Given the description of an element on the screen output the (x, y) to click on. 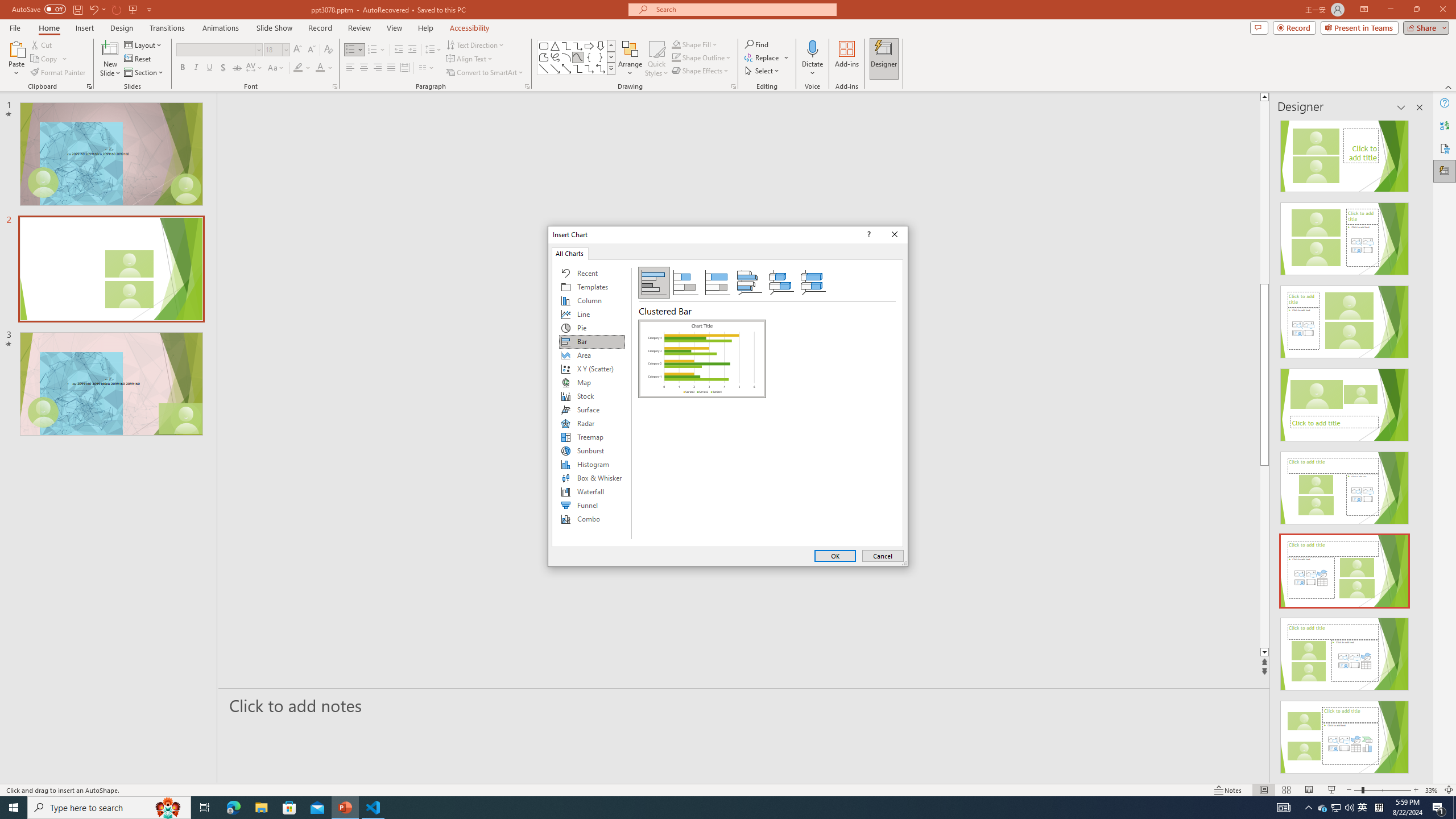
100% Stacked Bar (717, 282)
Class: NetUIScrollBar (1418, 447)
Treemap (591, 436)
Layout (143, 44)
Stock (591, 395)
Center (1322, 807)
